Given the description of an element on the screen output the (x, y) to click on. 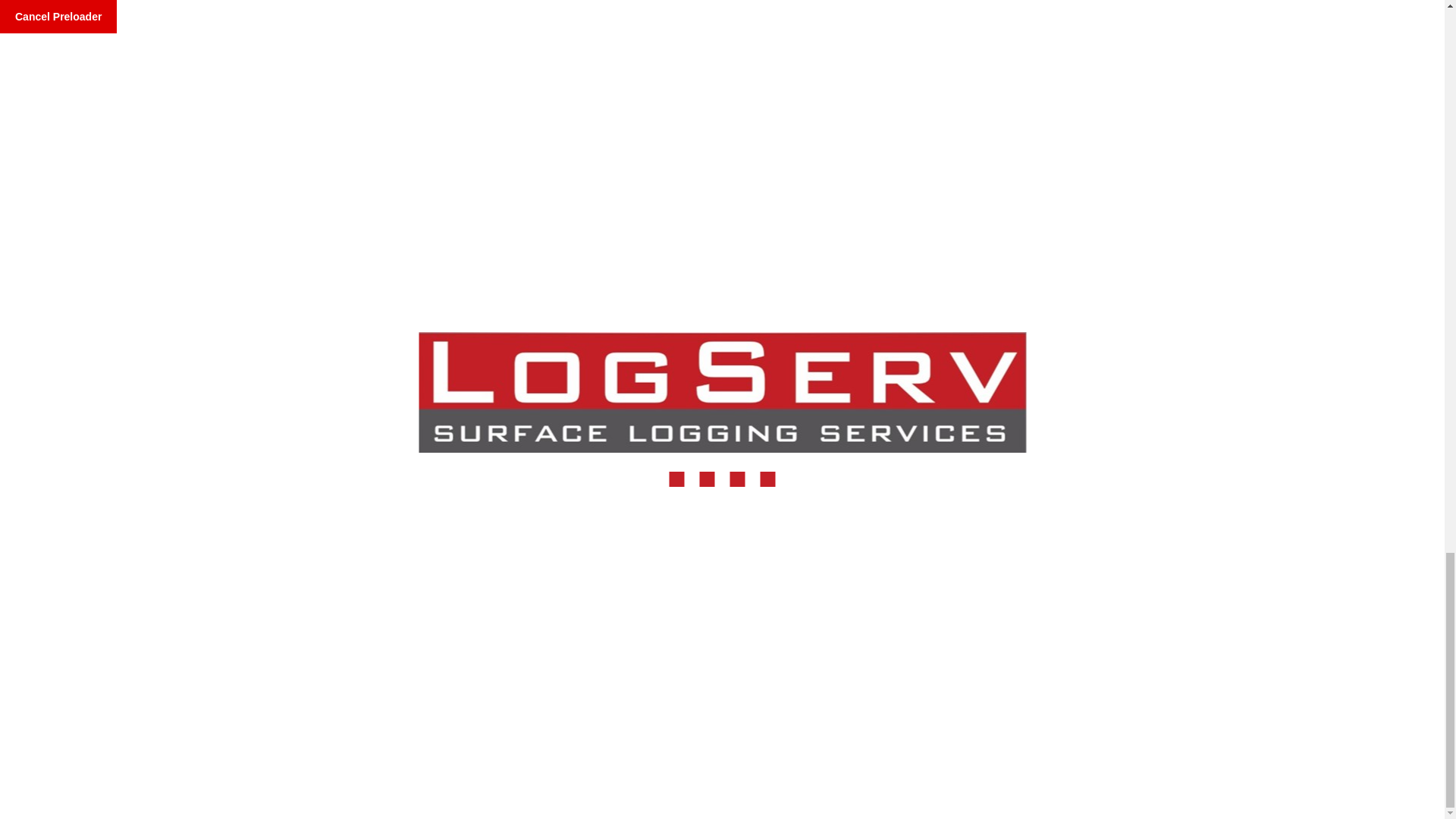
Contact (814, 469)
About Us (669, 469)
Submit (759, 222)
Home (596, 469)
Career (743, 469)
